Given the description of an element on the screen output the (x, y) to click on. 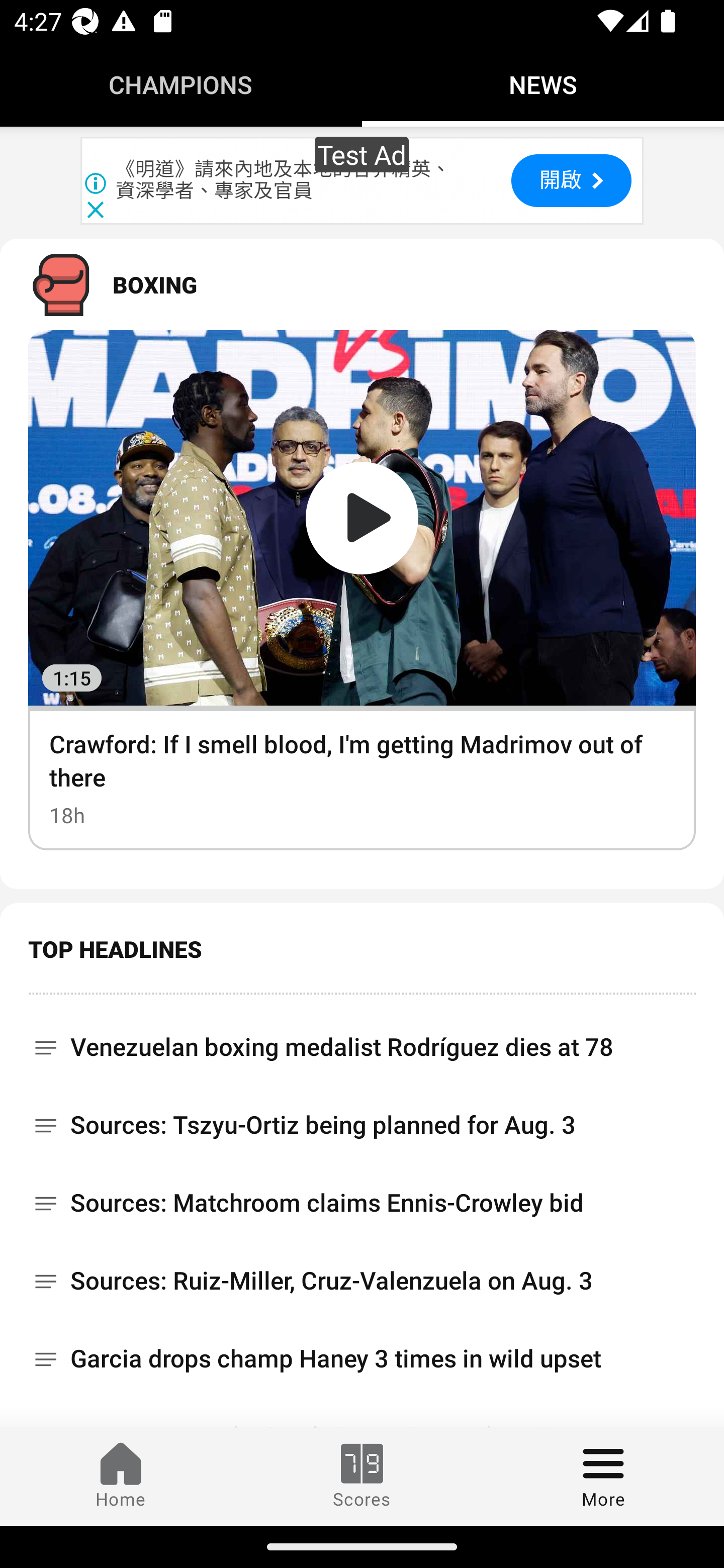
Champions CHAMPIONS (181, 84)
開啟 (570, 179)
BOXING (362, 284)
 Venezuelan boxing medalist Rodríguez dies at 78 (362, 1040)
 Sources: Tszyu-Ortiz being planned for Aug. 3 (362, 1125)
 Sources: Matchroom claims Ennis-Crowley bid (362, 1203)
 Sources: Ruiz-Miller, Cruz-Valenzuela on Aug. 3 (362, 1280)
 Garcia drops champ Haney 3 times in wild upset (362, 1359)
Home (120, 1475)
Scores (361, 1475)
